Given the description of an element on the screen output the (x, y) to click on. 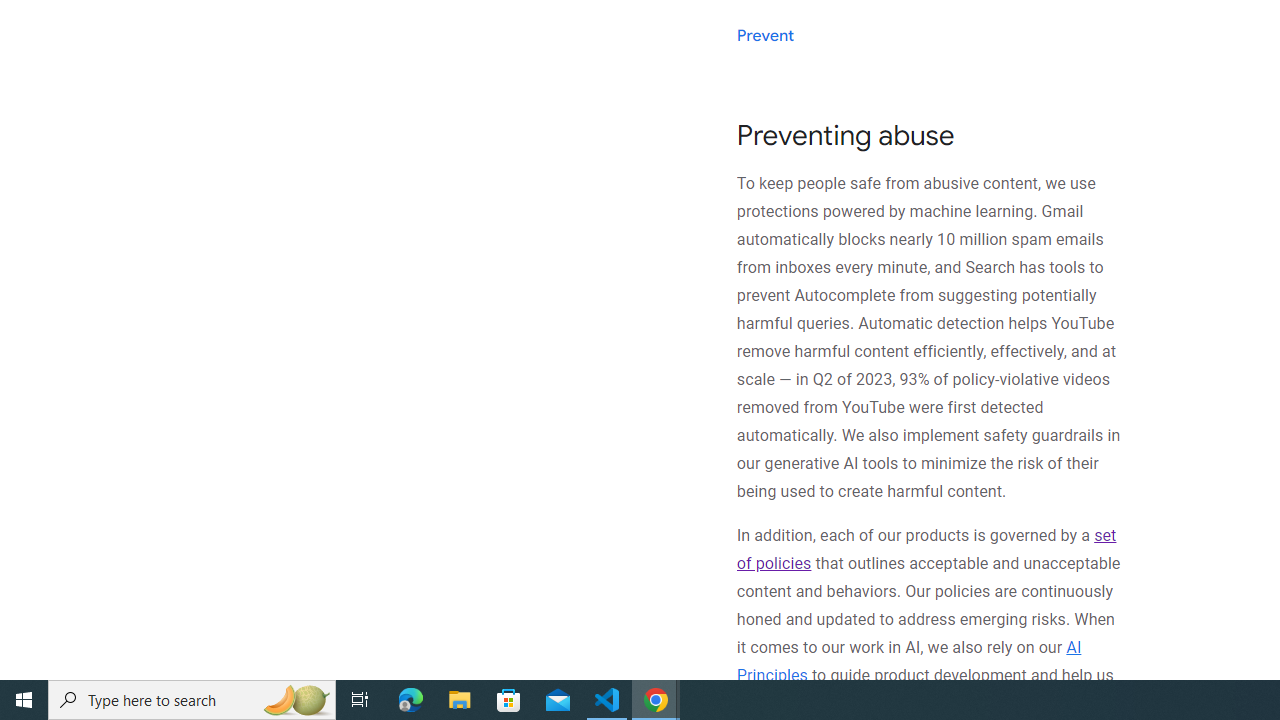
set of policies (926, 549)
Type here to search (191, 699)
AI Principles (908, 660)
Visual Studio Code - 1 running window (607, 699)
Search highlights icon opens search home window (295, 699)
Microsoft Store (509, 699)
File Explorer (460, 699)
Start (24, 699)
Microsoft Edge (411, 699)
Google Chrome - 2 running windows (656, 699)
Task View (359, 699)
